Given the description of an element on the screen output the (x, y) to click on. 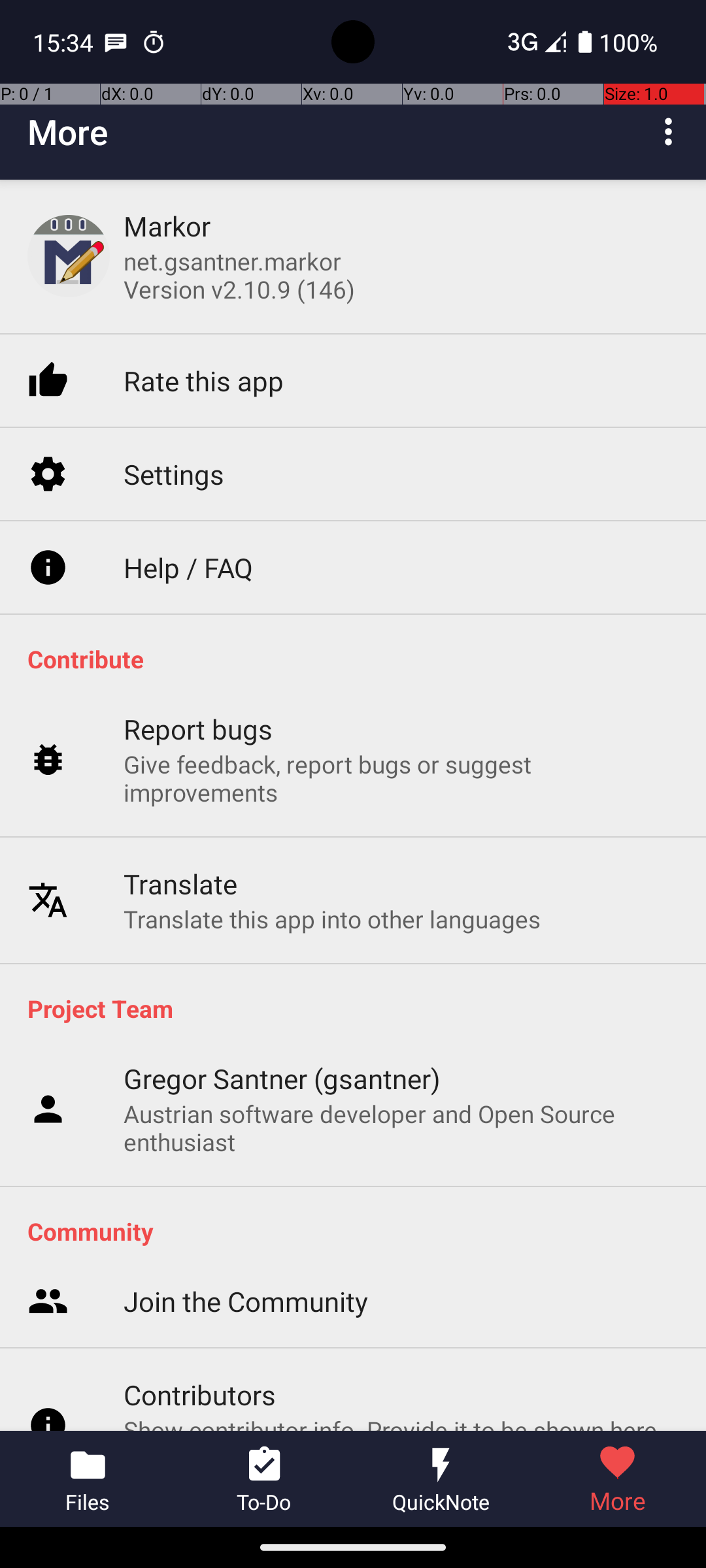
Contribute Element type: android.widget.TextView (359, 658)
Project Team Element type: android.widget.TextView (359, 1008)
Community Element type: android.widget.TextView (359, 1230)
net.gsantner.markor
Version v2.10.9 (146) Element type: android.widget.TextView (239, 274)
Rate this app Element type: android.widget.TextView (203, 364)
Help / FAQ Element type: android.widget.TextView (188, 550)
Report bugs Element type: android.widget.TextView (198, 712)
Give feedback, report bugs or suggest improvements Element type: android.widget.TextView (400, 761)
Translate Element type: android.widget.TextView (180, 866)
Translate this app into other languages Element type: android.widget.TextView (331, 901)
Gregor Santner (gsantner) Element type: android.widget.TextView (281, 1077)
Austrian software developer and Open Source enthusiast Element type: android.widget.TextView (400, 1127)
Join the Community Element type: android.widget.TextView (245, 1245)
Contributors Element type: android.widget.TextView (199, 1337)
Show contributor info. Provide it to be shown here on an opt-in basis after contributing Element type: android.widget.TextView (400, 1387)
